Given the description of an element on the screen output the (x, y) to click on. 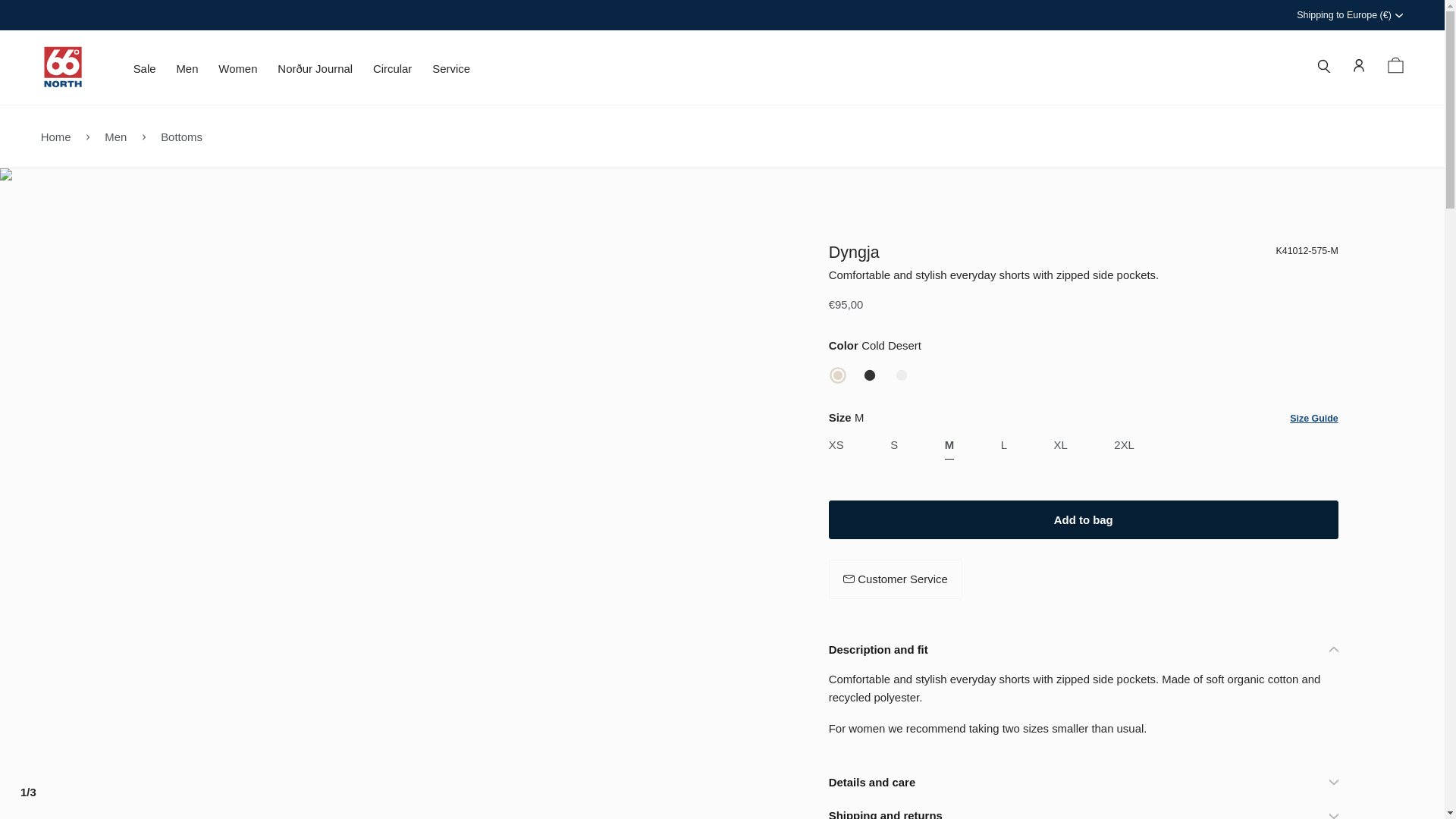
Customer Service (895, 578)
Home (55, 135)
Sale (144, 72)
Description and fit (1083, 649)
Circular (392, 72)
Details and care (1083, 781)
Men (115, 135)
Shipping and returns (1083, 809)
Add to bag (1083, 518)
Service (451, 72)
Bottoms (181, 135)
Men (187, 72)
Size Guide (1314, 418)
Women (237, 72)
